Given the description of an element on the screen output the (x, y) to click on. 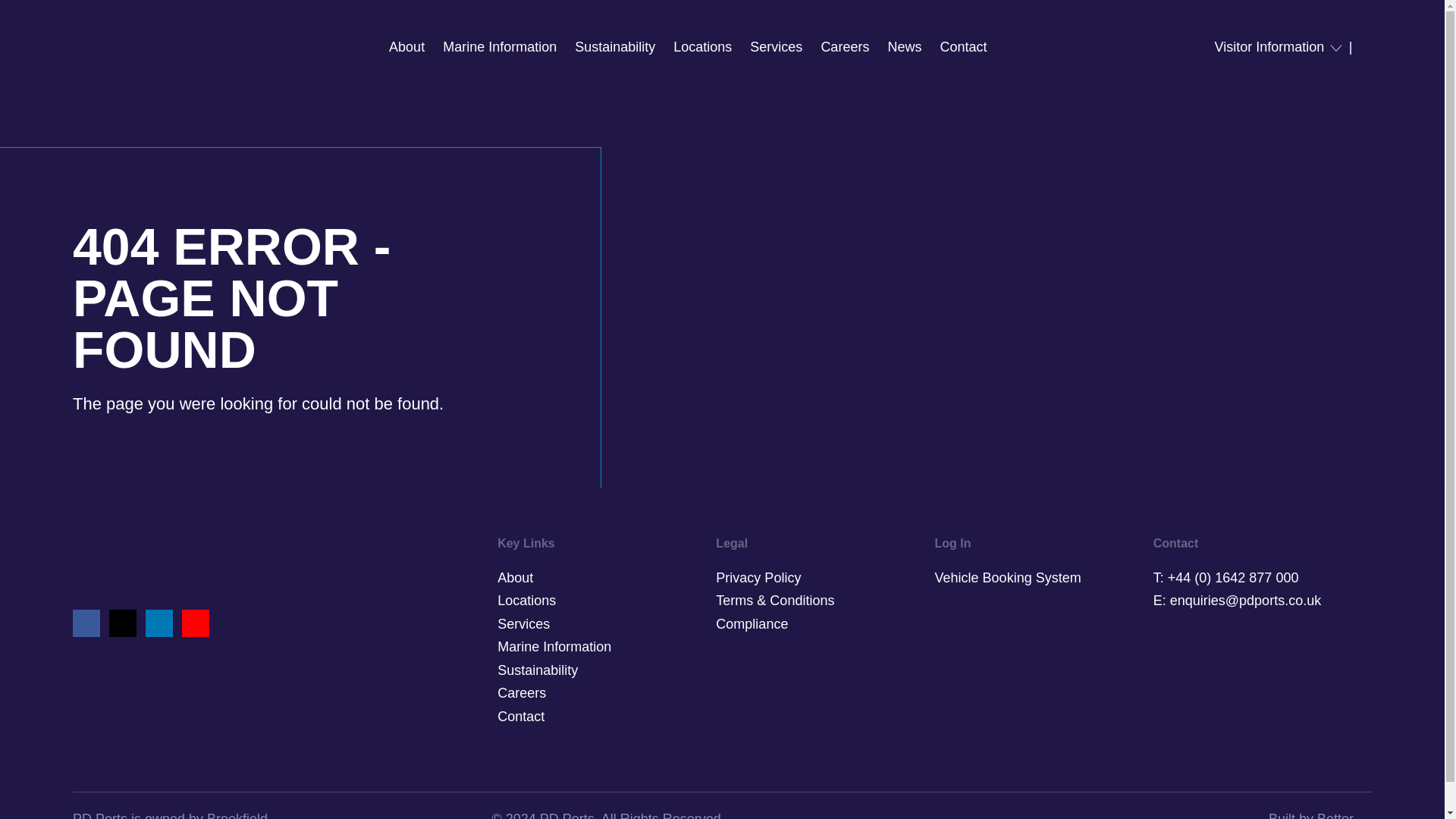
Marine Information (499, 47)
Locations (702, 47)
Sustainability (615, 47)
About (406, 47)
